Given the description of an element on the screen output the (x, y) to click on. 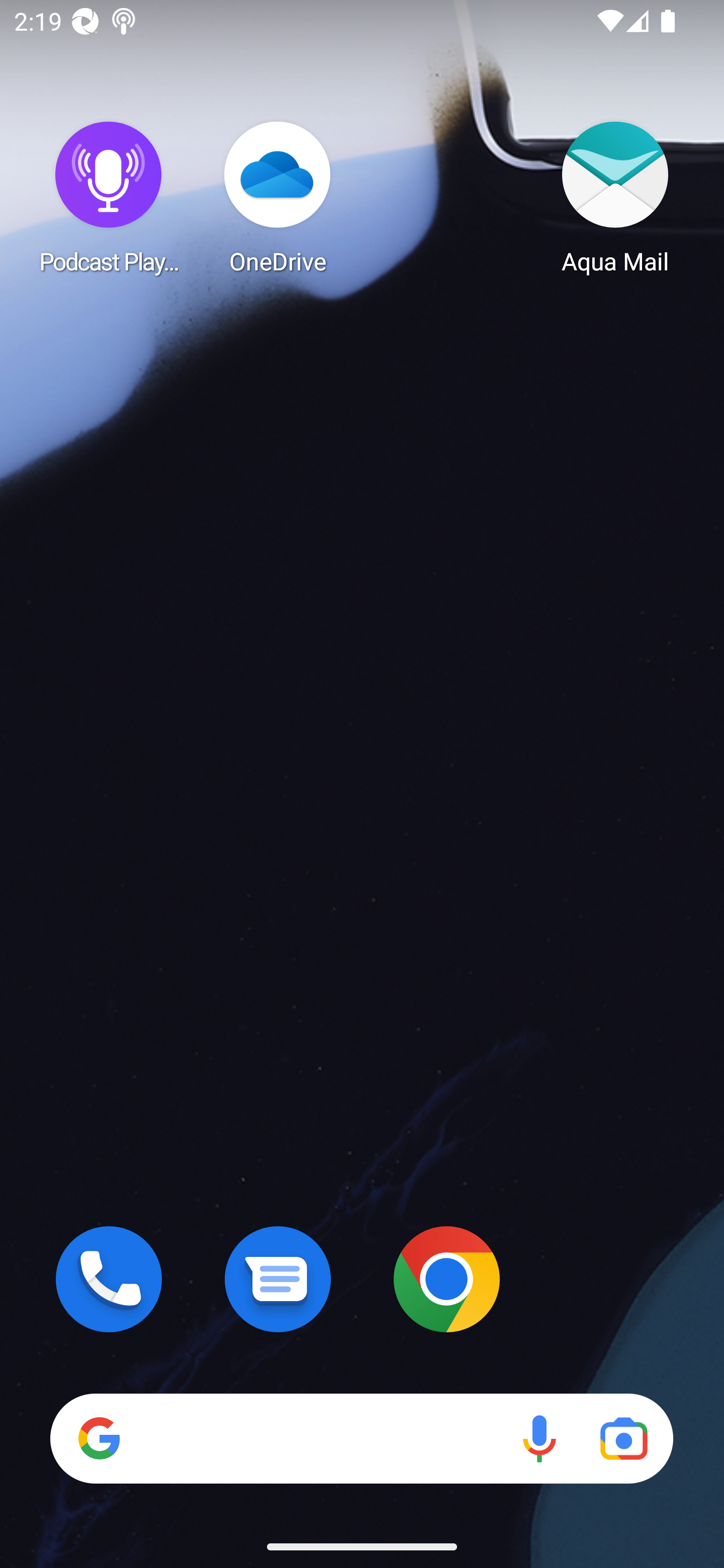
Podcast Player (108, 196)
OneDrive (277, 196)
Aqua Mail (615, 196)
Phone (108, 1279)
Messages (277, 1279)
Chrome (446, 1279)
Search Voice search Google Lens (361, 1438)
Voice search (539, 1438)
Google Lens (623, 1438)
